Given the description of an element on the screen output the (x, y) to click on. 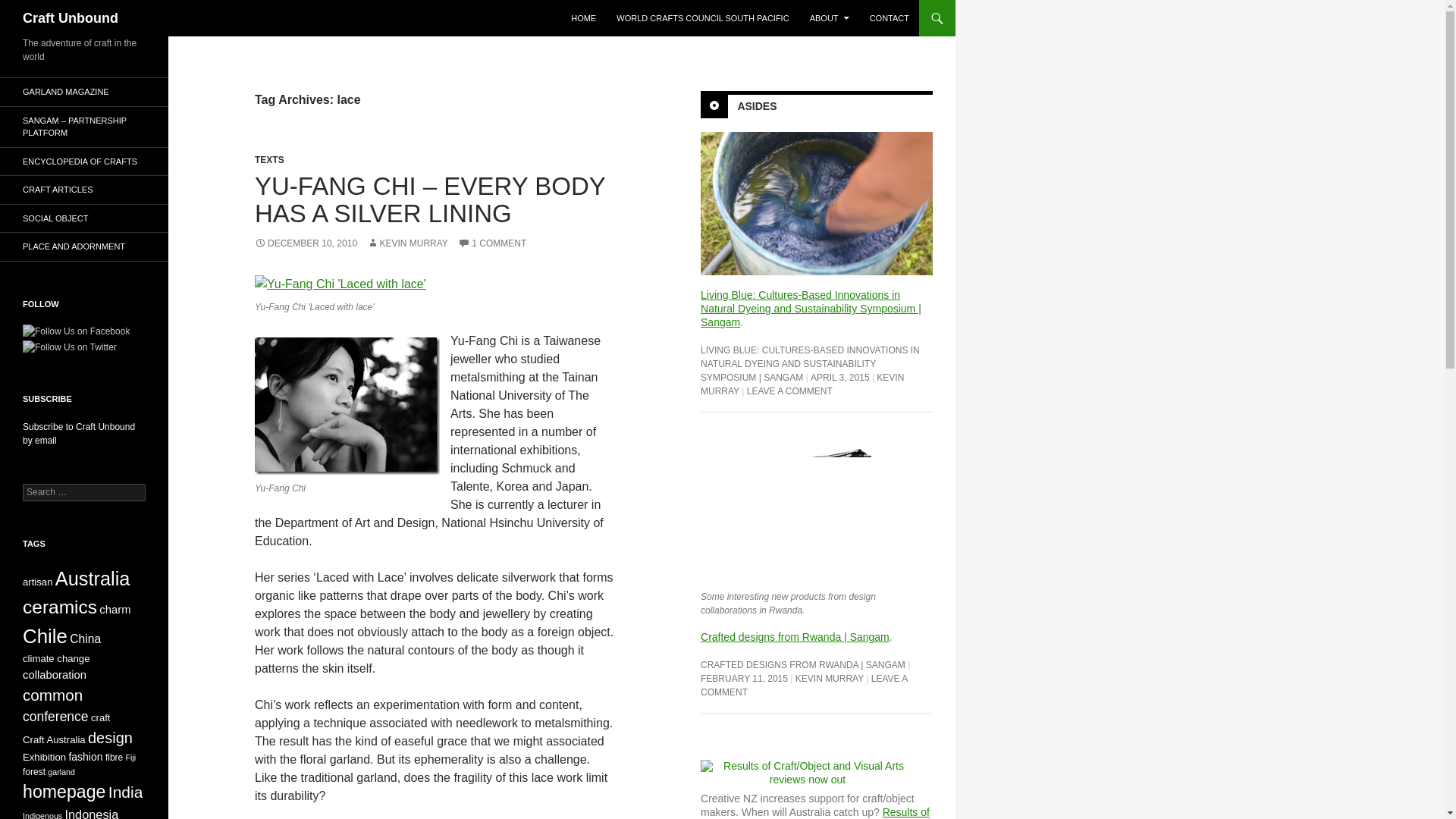
APRIL 3, 2015 (839, 377)
KEVIN MURRAY (406, 243)
1 COMMENT (491, 243)
DECEMBER 10, 2010 (305, 243)
HOME (583, 18)
FEBRUARY 11, 2015 (743, 678)
Follow Us on Facebook (76, 331)
LEAVE A COMMENT (789, 390)
KEVIN MURRAY (802, 384)
ABOUT (829, 18)
KEVIN MURRAY (828, 678)
Follow Us on Twitter (69, 346)
Craft Unbound (70, 18)
ASIDES (756, 105)
WORLD CRAFTS COUNCIL SOUTH PACIFIC (702, 18)
